Given the description of an element on the screen output the (x, y) to click on. 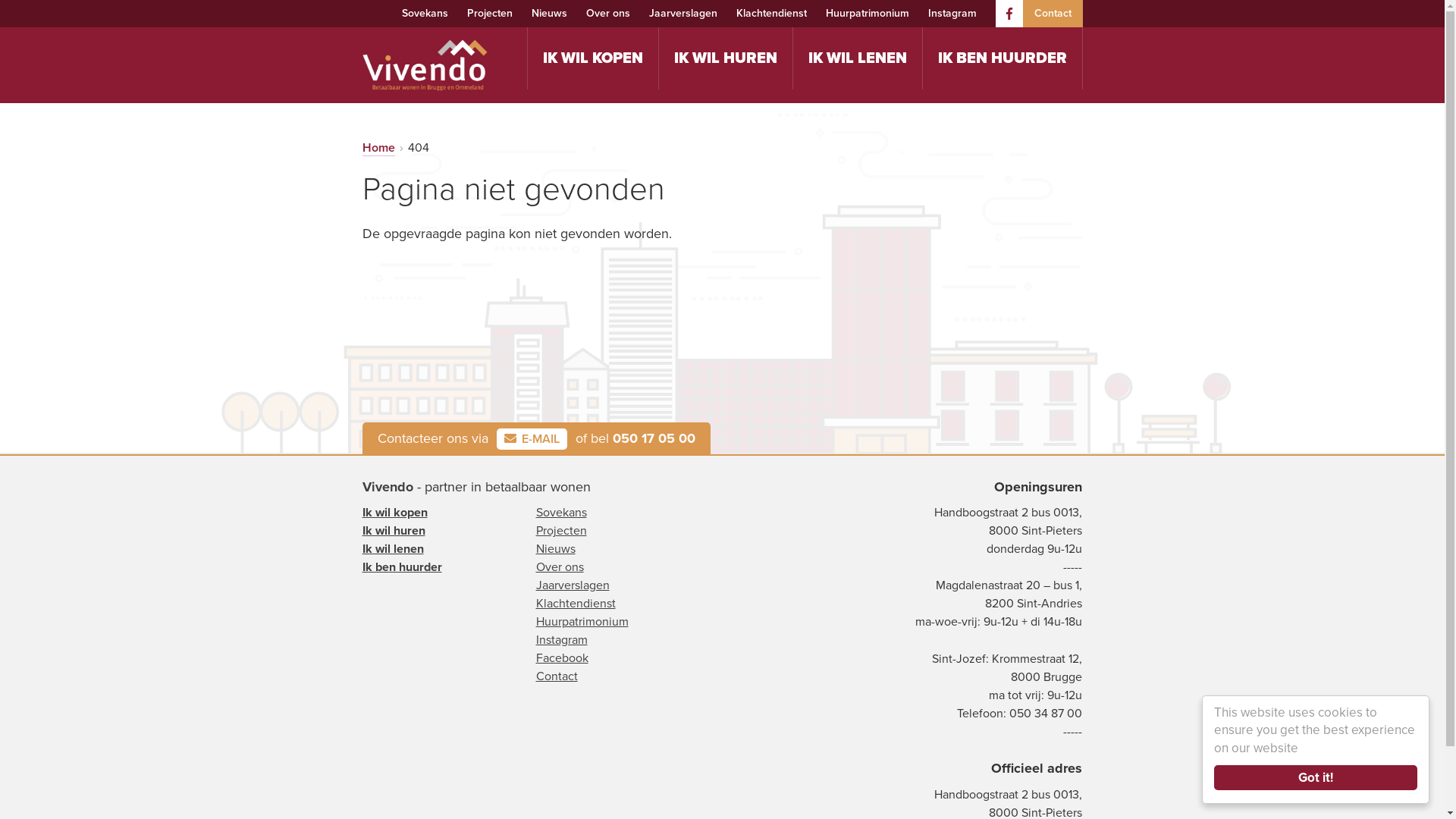
Home Element type: text (378, 148)
IK WIL HUREN Element type: text (724, 58)
Got it! Element type: text (1315, 777)
Facebook Element type: text (561, 657)
Jaarverslagen Element type: text (683, 13)
Contact Element type: text (1052, 13)
Ik wil lenen Element type: text (392, 548)
IK BEN HUURDER Element type: text (1001, 58)
Over ons Element type: text (559, 566)
Huurpatrimonium Element type: text (581, 621)
Klachtendienst Element type: text (575, 603)
Instagram Element type: text (952, 13)
Ik wil huren Element type: text (393, 530)
Sovekans Element type: text (560, 512)
Sovekans Element type: text (424, 13)
Instagram Element type: text (560, 639)
Ik ben huurder Element type: text (402, 566)
Contact Element type: text (556, 676)
Huurpatrimonium Element type: text (866, 13)
Projecten Element type: text (560, 530)
Facebook Element type: text (1008, 13)
Ik wil kopen Element type: text (394, 512)
Nieuws Element type: text (548, 13)
IK WIL LENEN Element type: text (857, 58)
Jaarverslagen Element type: text (571, 585)
Vivendo Element type: text (387, 486)
E-MAIL Element type: text (530, 438)
050 17 05 00 Element type: text (653, 437)
Nieuws Element type: text (554, 548)
Over ons Element type: text (607, 13)
Projecten Element type: text (489, 13)
IK WIL KOPEN Element type: text (592, 58)
Klachtendienst Element type: text (770, 13)
